Given the description of an element on the screen output the (x, y) to click on. 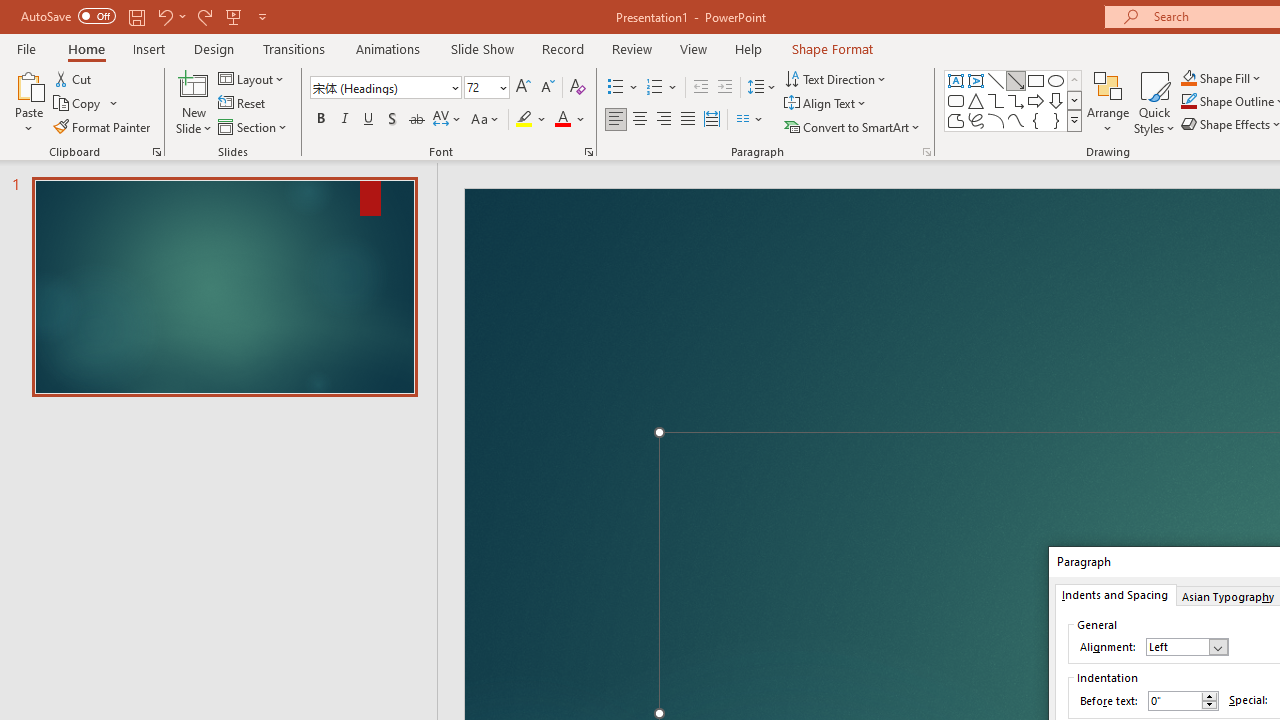
Arc (995, 120)
Font Color Red (562, 119)
Arrow: Right (1035, 100)
Shapes (1074, 120)
Rectangle: Rounded Corners (955, 100)
Font... (588, 151)
